Given the description of an element on the screen output the (x, y) to click on. 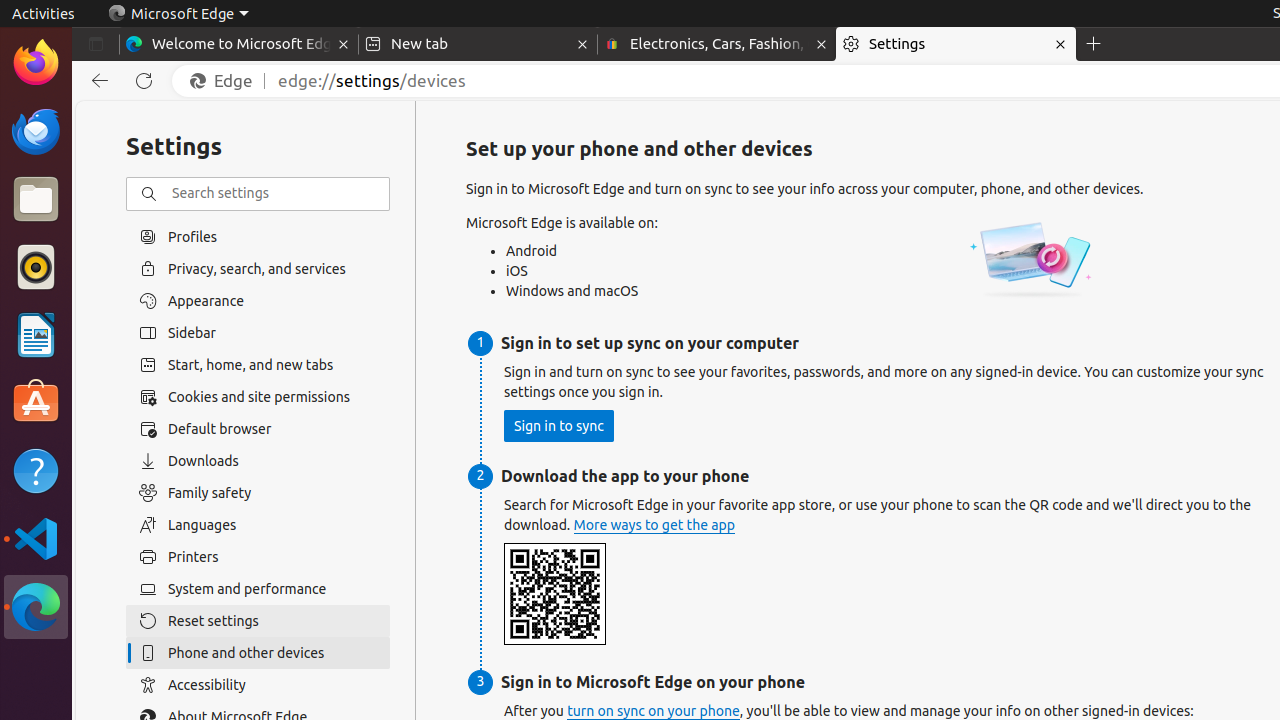
LibreOffice Writer Element type: push-button (36, 334)
Printers Element type: tree-item (258, 557)
New tab Element type: page-tab (478, 44)
Sidebar Element type: tree-item (258, 333)
Settings Element type: page-tab (956, 44)
